Given the description of an element on the screen output the (x, y) to click on. 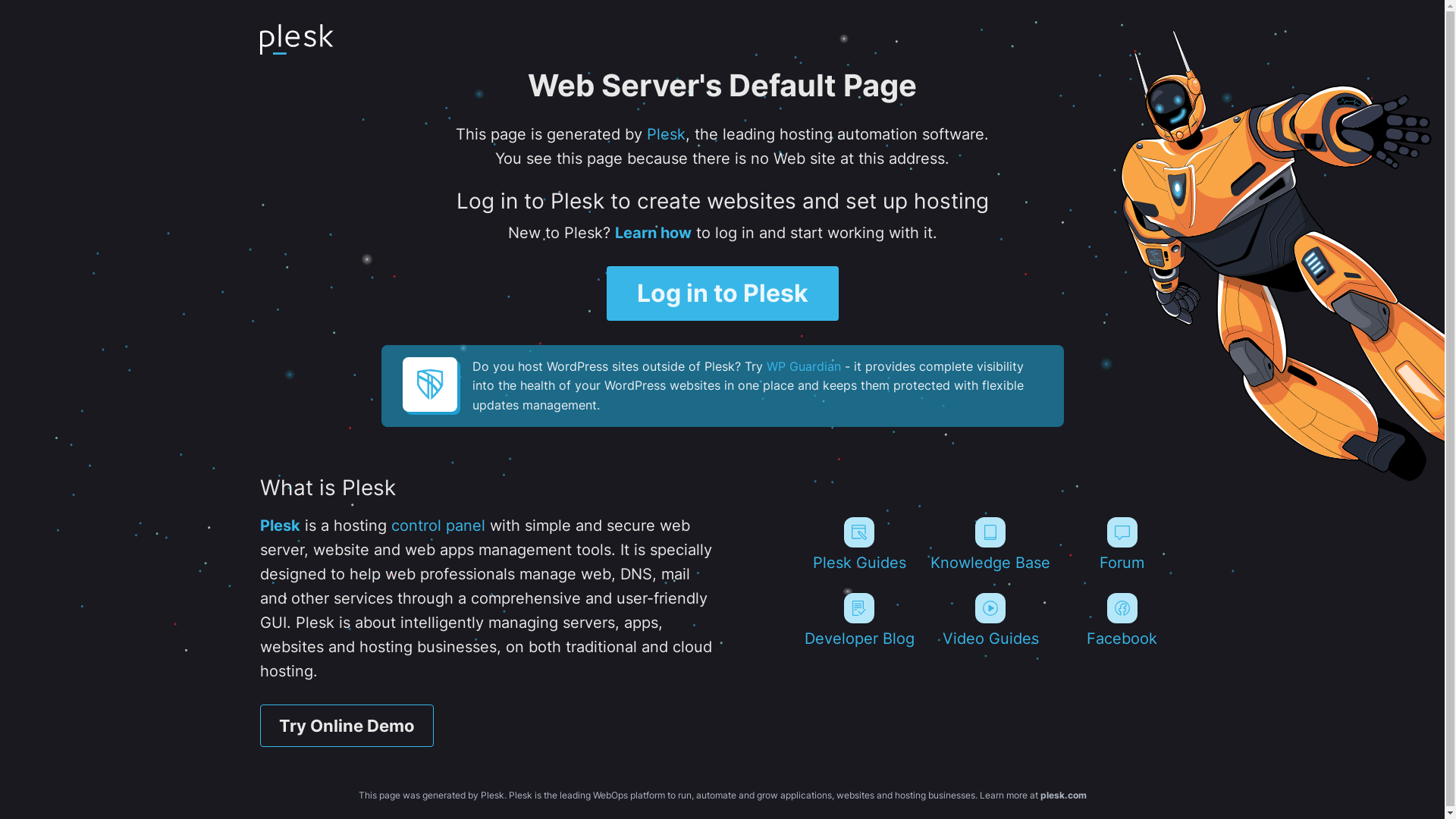
Plesk Guides Element type: text (858, 544)
Video Guides Element type: text (990, 620)
plesk.com Element type: text (1063, 794)
control panel Element type: text (438, 525)
Developer Blog Element type: text (858, 620)
Facebook Element type: text (1121, 620)
Forum Element type: text (1121, 544)
Knowledge Base Element type: text (990, 544)
Plesk Element type: text (665, 134)
Try Online Demo Element type: text (346, 725)
Plesk Element type: text (279, 525)
Learn how Element type: text (652, 232)
WP Guardian Element type: text (802, 365)
Log in to Plesk Element type: text (722, 293)
